Given the description of an element on the screen output the (x, y) to click on. 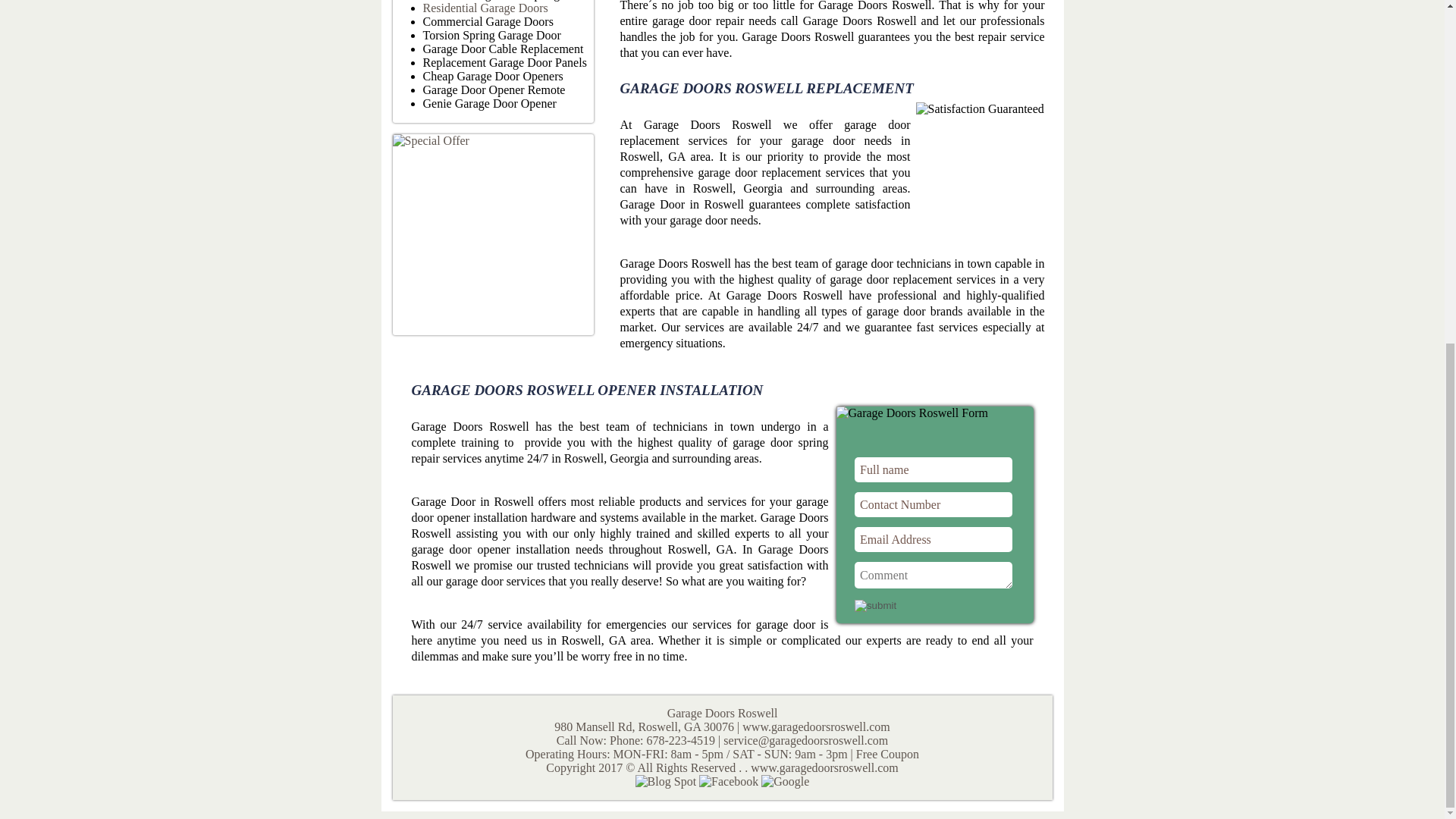
www.garagedoorsroswell.com (815, 726)
Free Coupon (887, 753)
Residential Garage Doors (485, 7)
Contact Number (932, 504)
Full name (932, 469)
Email Address (932, 539)
